Given the description of an element on the screen output the (x, y) to click on. 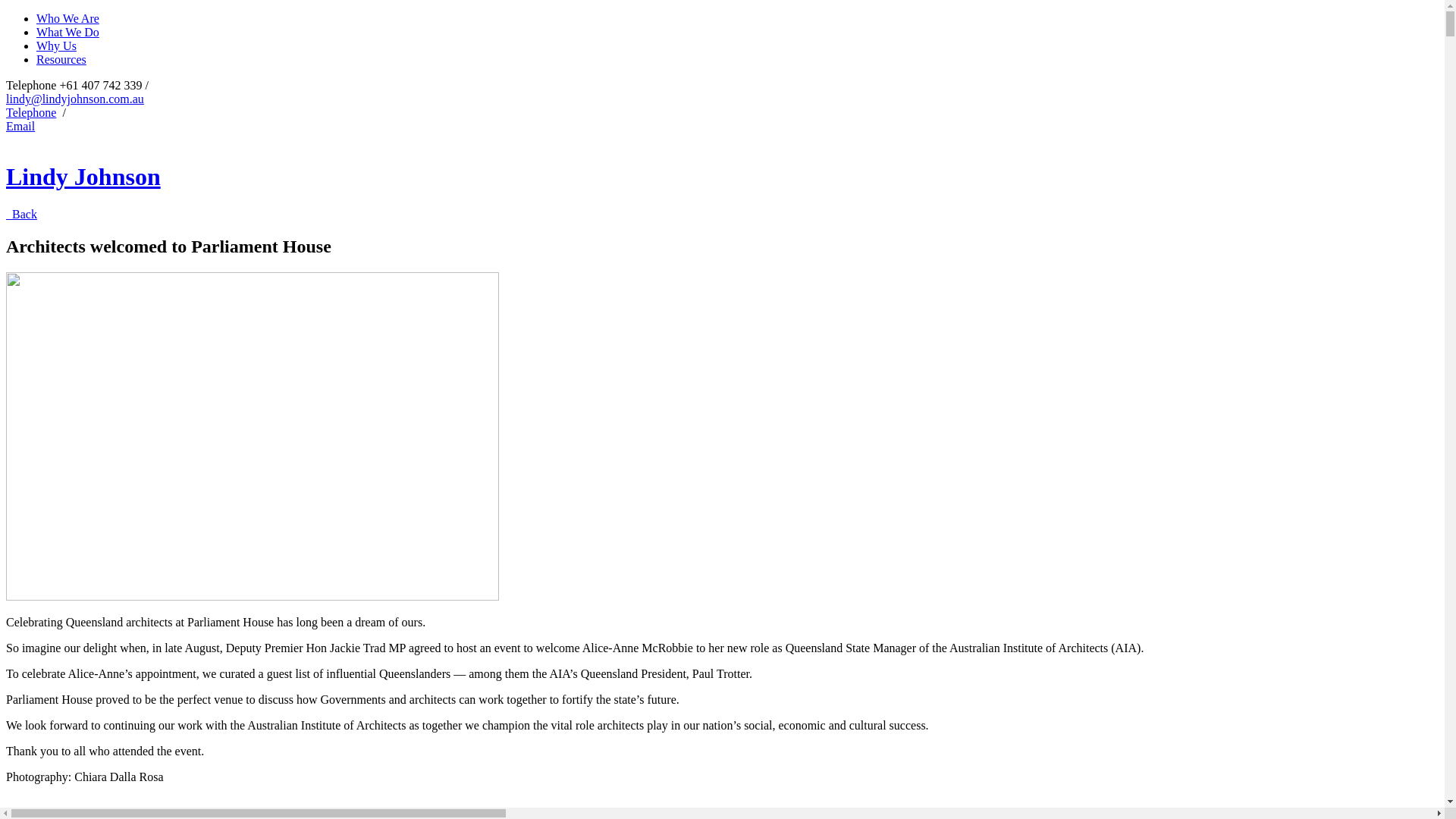
lindy@lindyjohnson.com.au Element type: text (75, 98)
  Back Element type: text (21, 213)
Who We Are Element type: text (67, 18)
Telephone Element type: text (31, 112)
What We Do Element type: text (67, 31)
Why Us Element type: text (56, 45)
Resources Element type: text (61, 59)
Email Element type: text (20, 125)
Lindy Johnson Element type: text (83, 176)
